Given the description of an element on the screen output the (x, y) to click on. 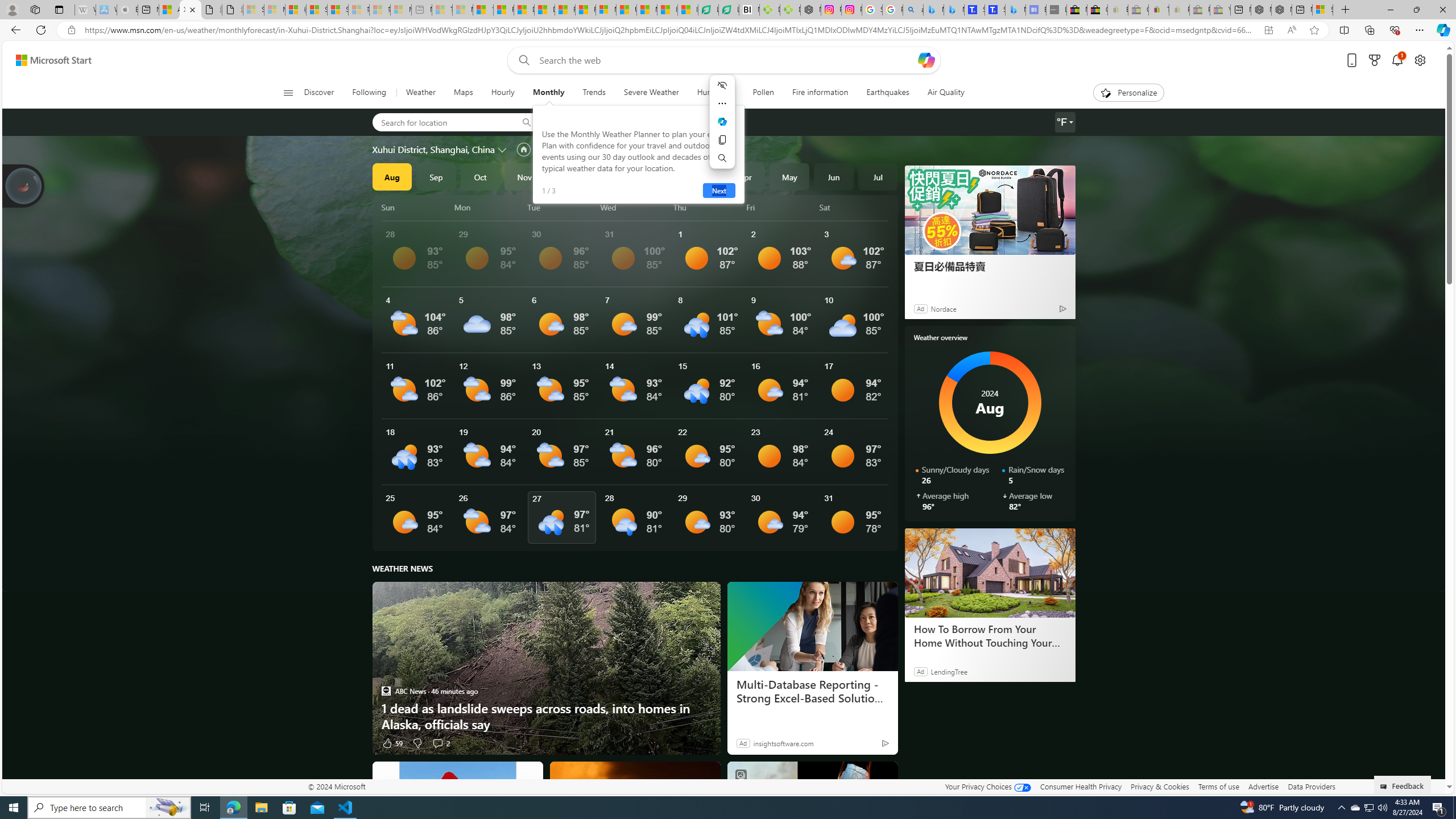
Top Stories - MSN - Sleeping (441, 9)
LendingTree (948, 671)
Consumer Health Privacy (1080, 785)
Monthly (547, 92)
Consumer Health Privacy (1080, 786)
Dec (568, 176)
Change location (503, 149)
Mon (489, 207)
US Heat Deaths Soared To Record High Last Year (626, 9)
Monthly (548, 92)
